Given the description of an element on the screen output the (x, y) to click on. 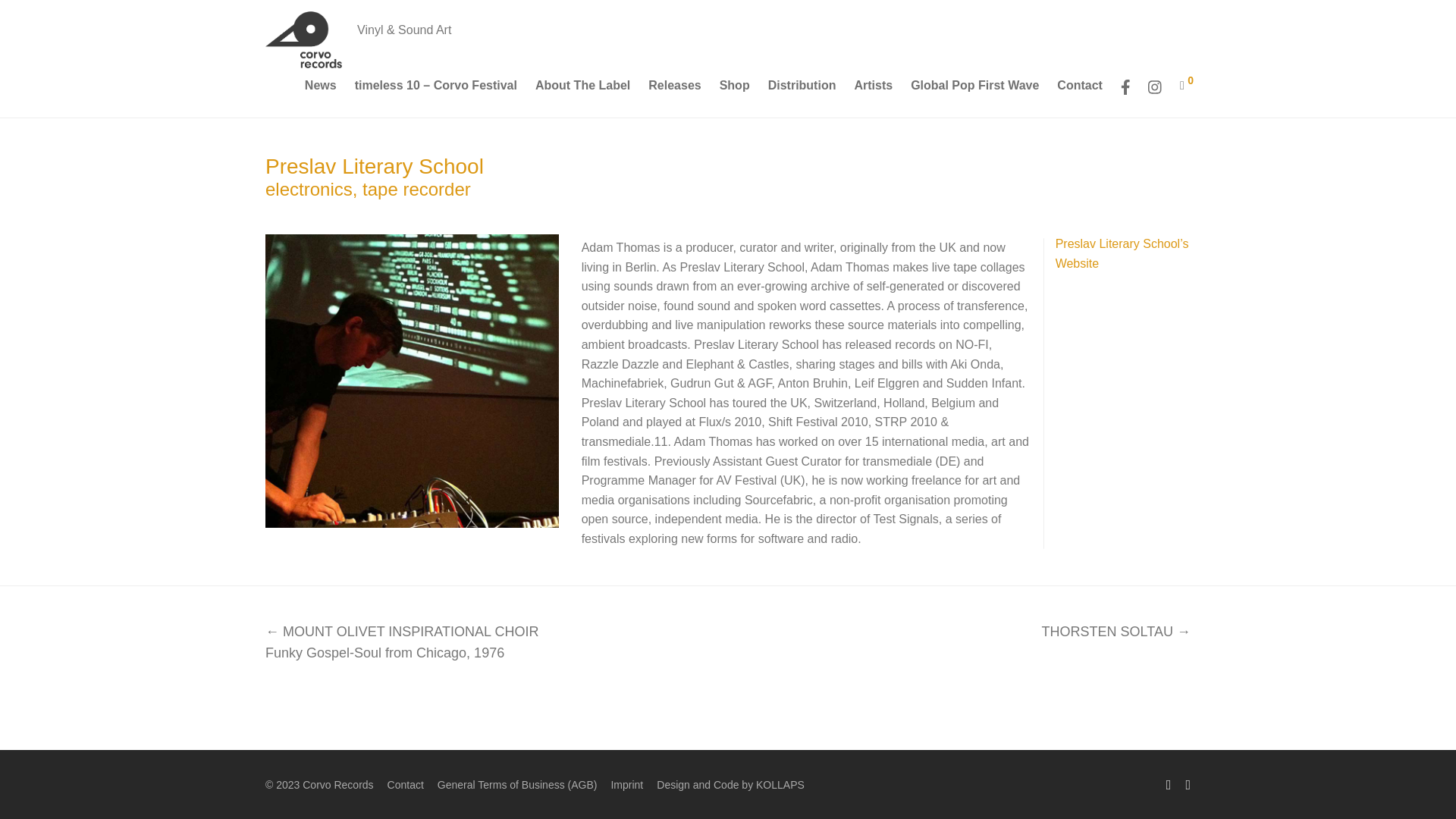
Distribution (801, 89)
Artists (872, 89)
Contact (1079, 89)
Shop (734, 89)
About The Label (582, 89)
Global Pop First Wave (975, 89)
Contact (1079, 89)
Global Pop First Wave (975, 89)
About The Label (582, 89)
Releases (673, 89)
Distribution (801, 89)
Shop (734, 89)
Design and Code by KOLLAPS (730, 784)
Releases (673, 89)
Contact (405, 784)
